Given the description of an element on the screen output the (x, y) to click on. 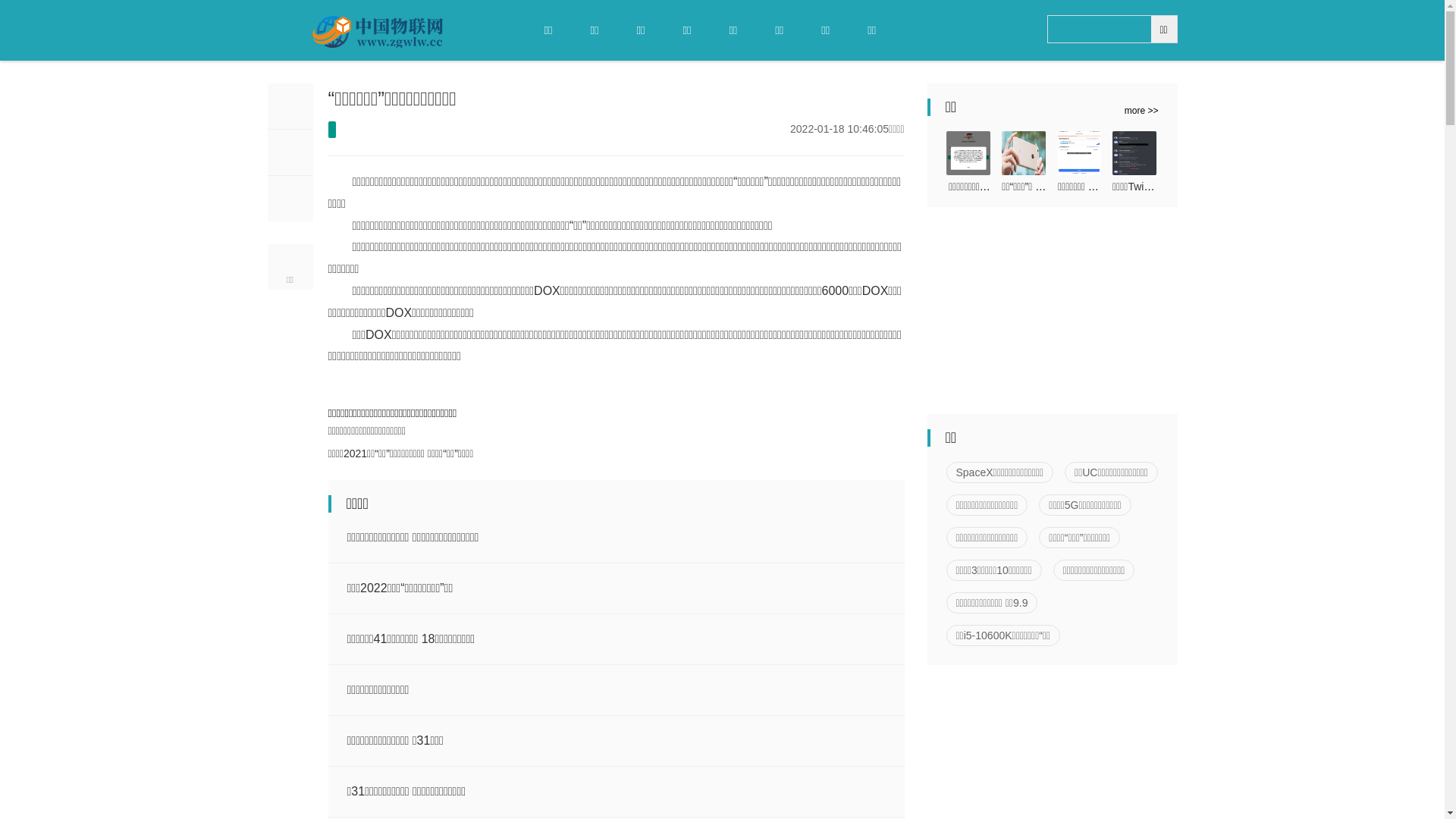
more >> Element type: text (1150, 107)
DOX Element type: text (444, 375)
Advertisement Element type: hover (1040, 316)
